Given the description of an element on the screen output the (x, y) to click on. 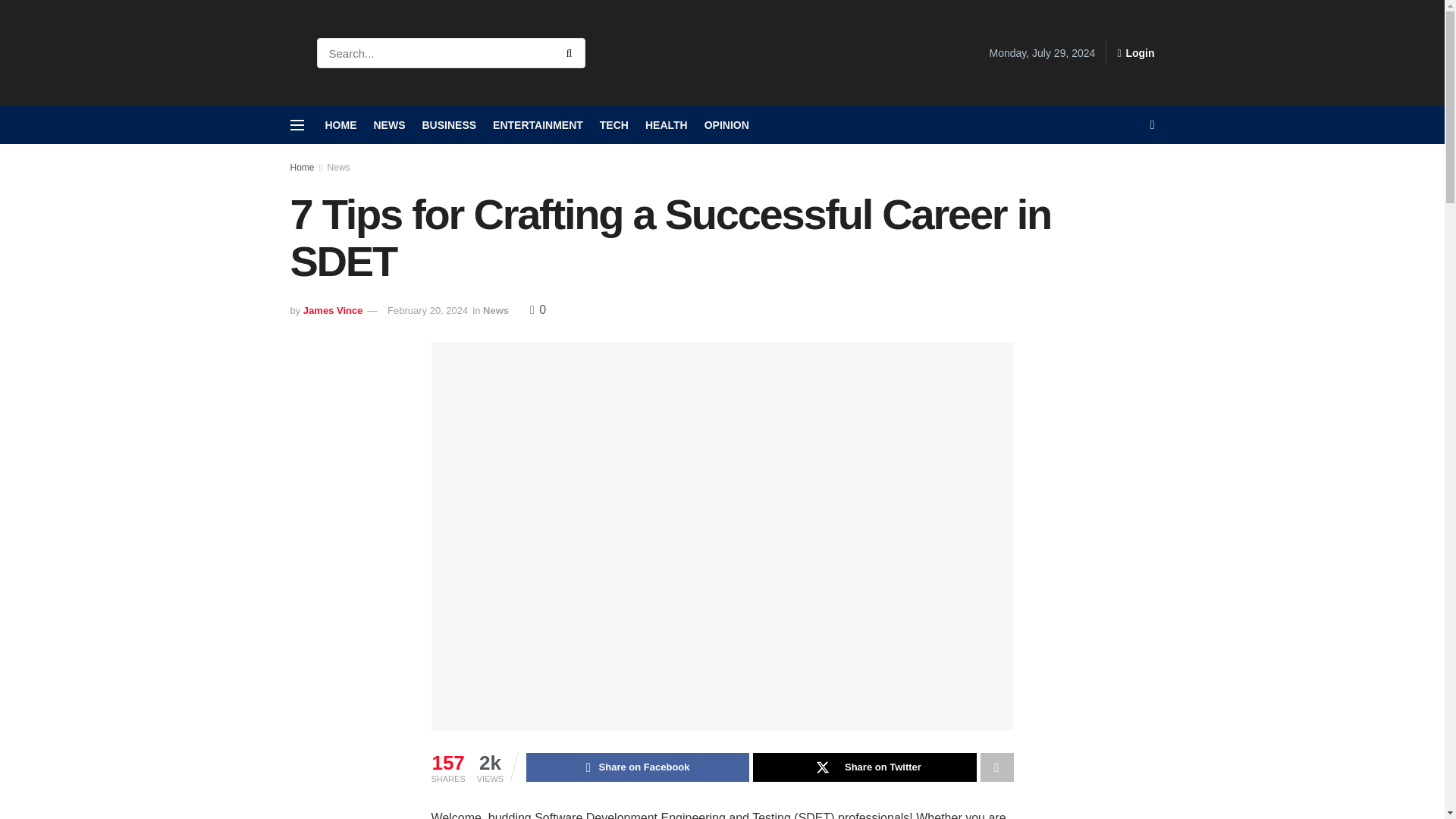
News (495, 310)
BUSINESS (449, 125)
February 20, 2024 (427, 310)
HEALTH (666, 125)
0 (537, 309)
OPINION (726, 125)
James Vince (332, 310)
News (338, 167)
Home (301, 167)
Share on Twitter (863, 767)
Login (1135, 53)
Share on Facebook (637, 767)
ENTERTAINMENT (538, 125)
